Given the description of an element on the screen output the (x, y) to click on. 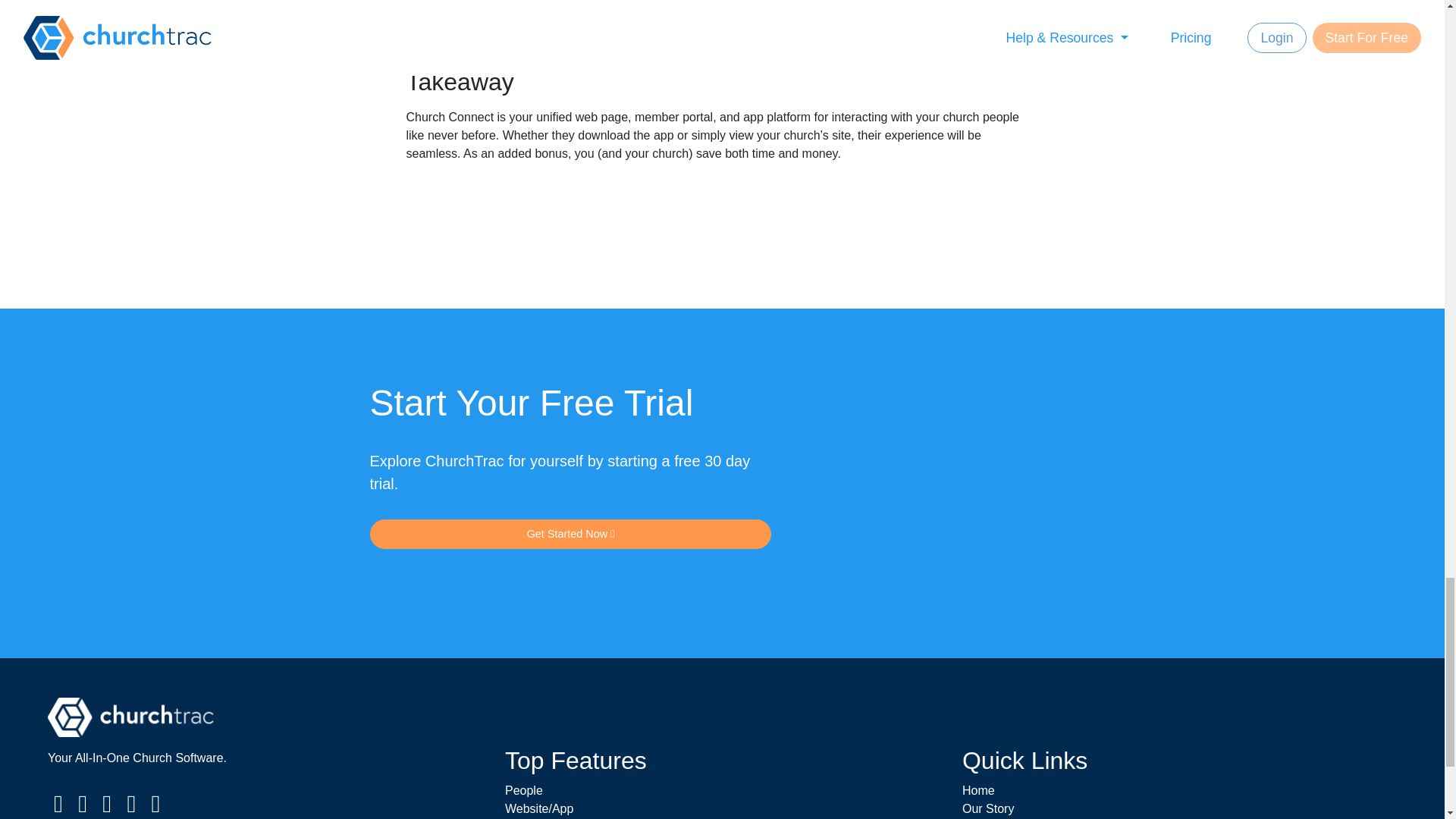
Vimeo (156, 807)
Facebook (58, 807)
Twitter (82, 807)
Youtube (130, 807)
Get Started Now (570, 534)
Pinterest (106, 807)
People (524, 789)
